Given the description of an element on the screen output the (x, y) to click on. 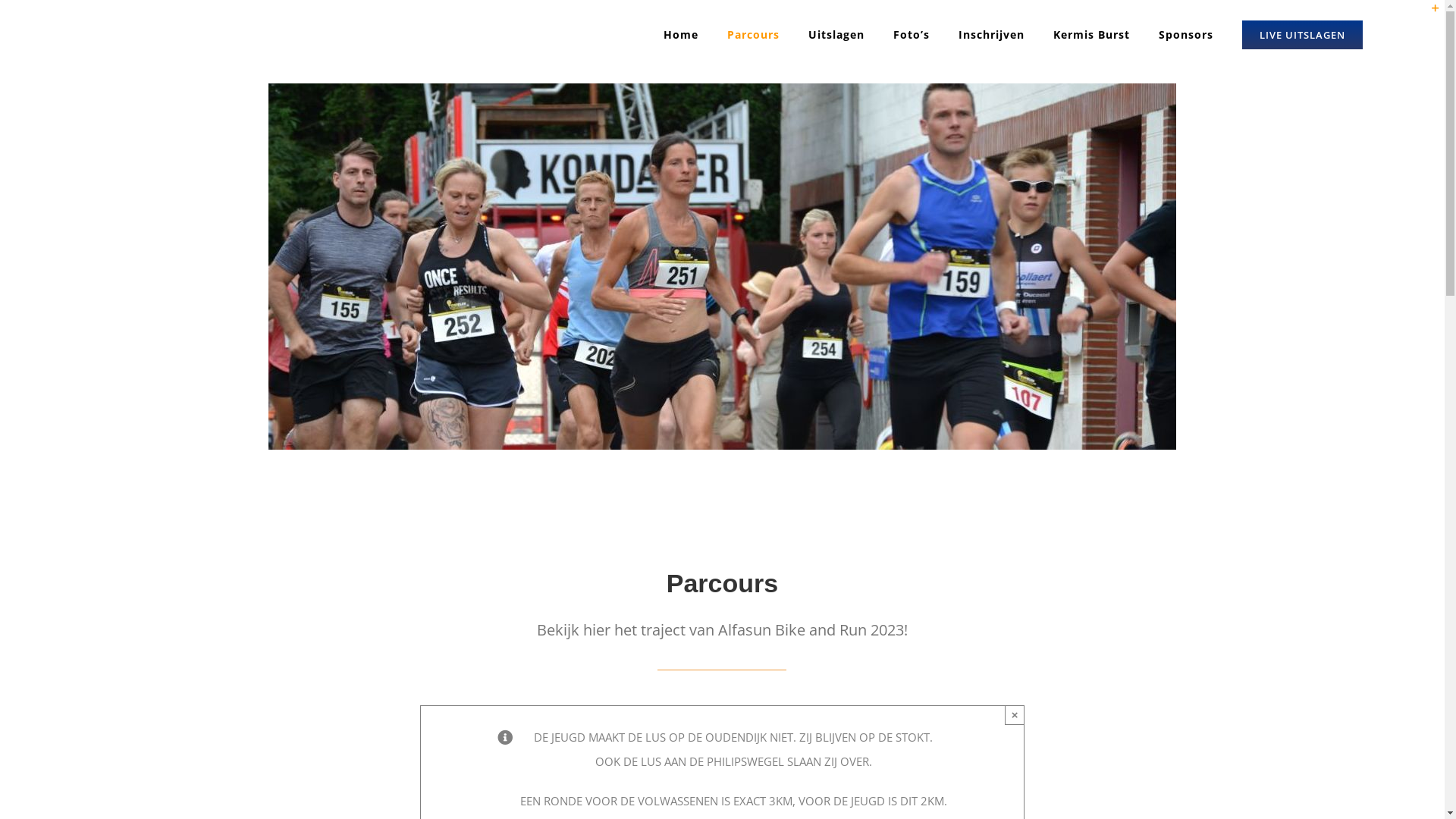
Kermis Burst Element type: text (1091, 34)
Uitslagen Element type: text (836, 34)
DSC_0172 Element type: hover (722, 266)
Home Element type: text (680, 34)
LIVE UITSLAGEN Element type: text (1302, 34)
Parcours Element type: text (753, 34)
Inschrijven Element type: text (991, 34)
Toggle Sliding Bar Area Element type: text (1428, 13)
Sponsors Element type: text (1185, 34)
